Given the description of an element on the screen output the (x, y) to click on. 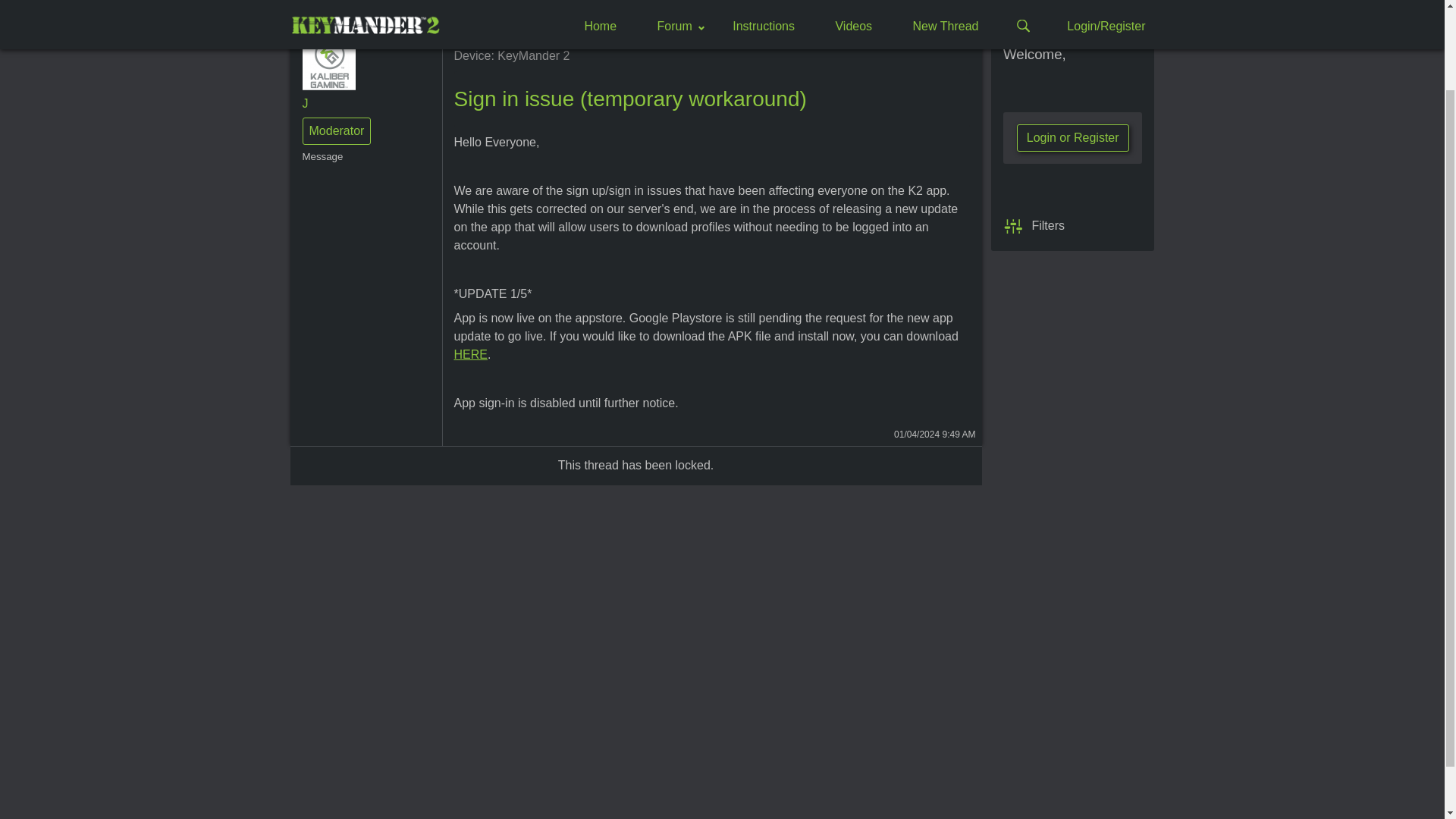
General (311, 15)
HERE (469, 354)
Device: KeyMander 2 (510, 55)
Message (336, 156)
